Given the description of an element on the screen output the (x, y) to click on. 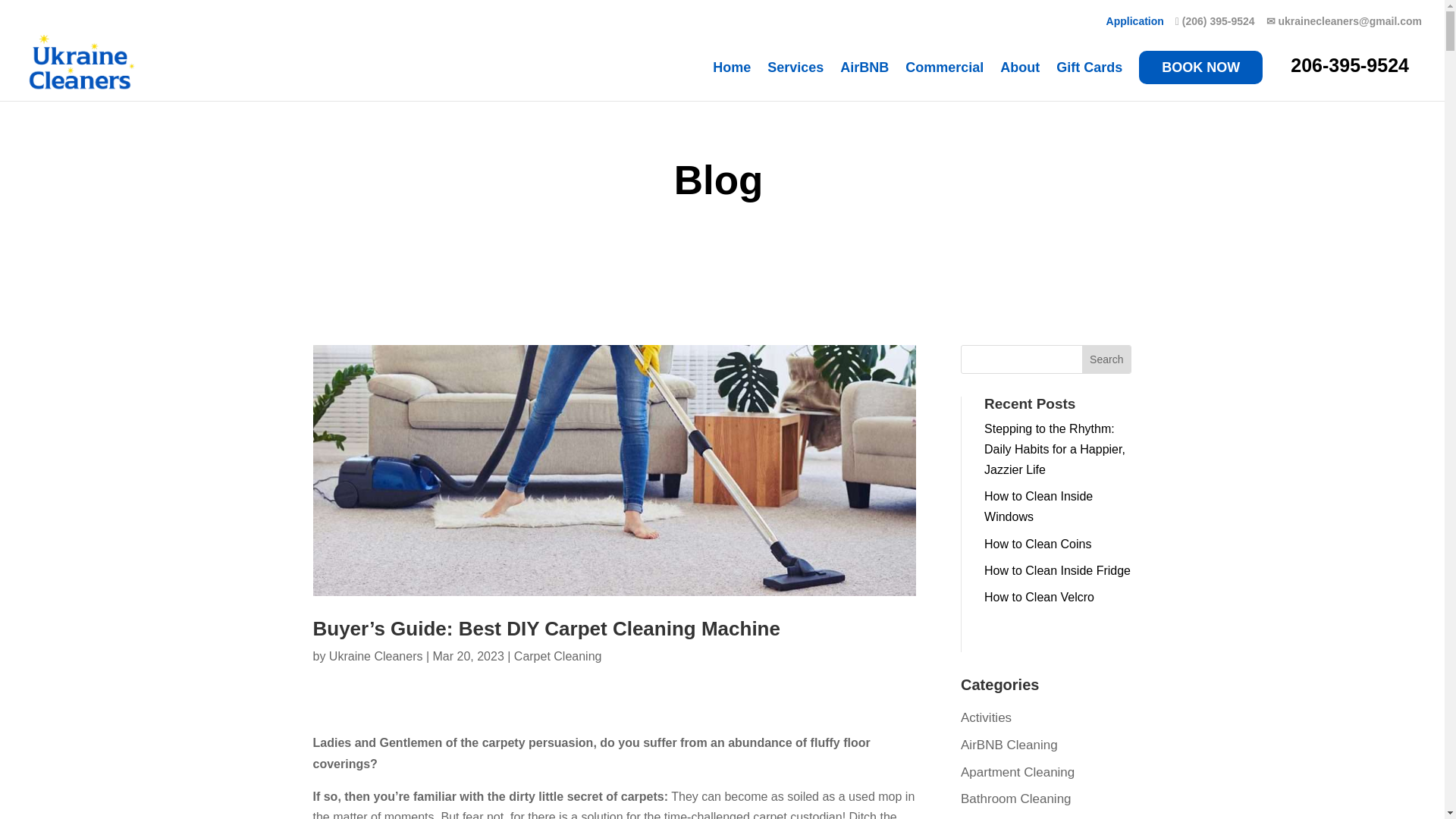
How to Clean Inside Windows (1038, 506)
About (1019, 81)
Services (795, 81)
Posts by Ukraine Cleaners (376, 656)
Gift Cards (1089, 81)
Search (1106, 359)
Search (1106, 359)
Ukraine Cleaners (376, 656)
Application (1134, 25)
